Given the description of an element on the screen output the (x, y) to click on. 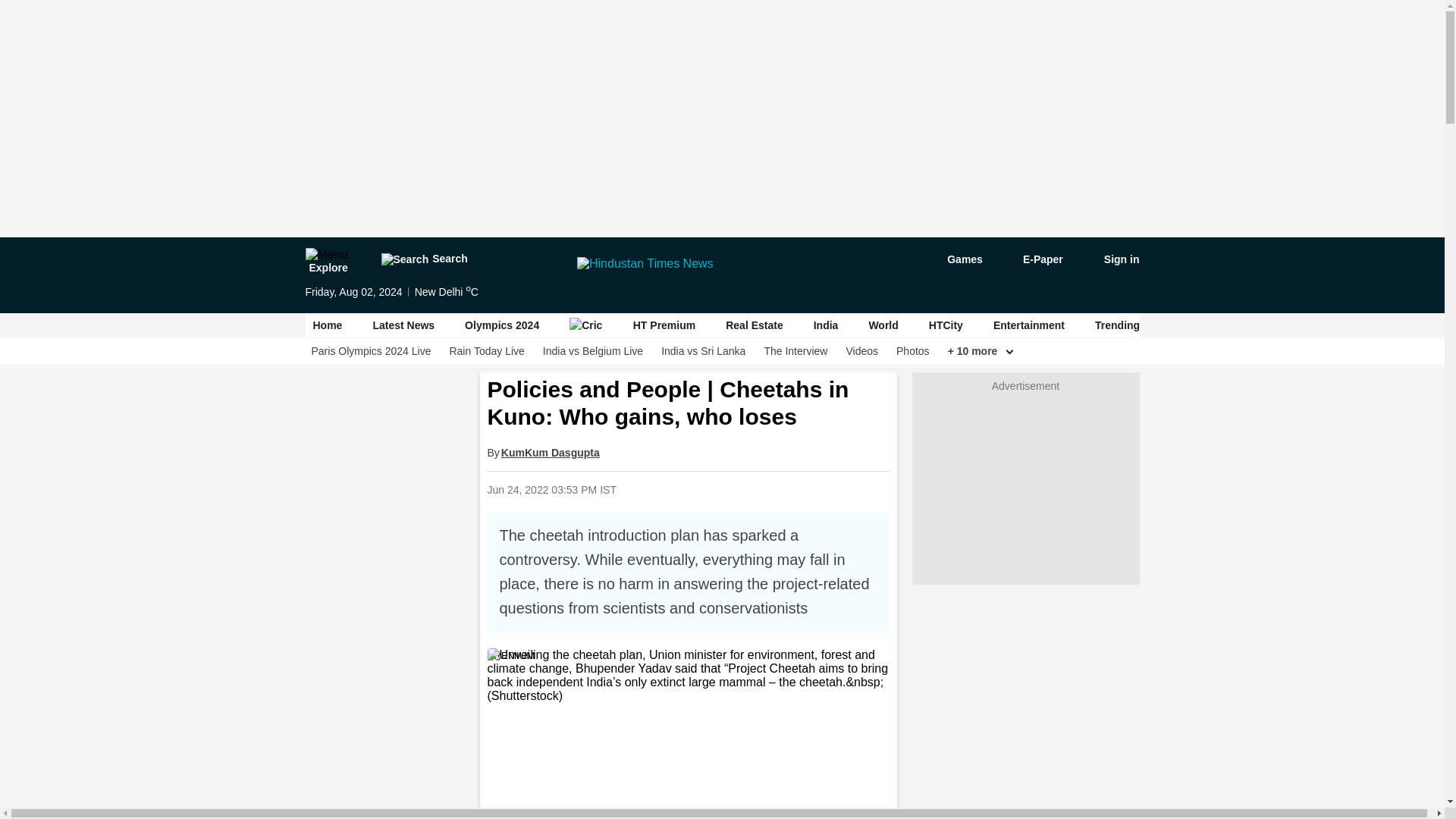
Real Estate (754, 325)
India (825, 325)
Astrology (1195, 325)
Olympics 2024 (501, 325)
Latest News (402, 325)
Entertainment (1028, 325)
Search (423, 258)
E-Paper (1034, 258)
The Interview (794, 350)
Trending (1117, 325)
